Given the description of an element on the screen output the (x, y) to click on. 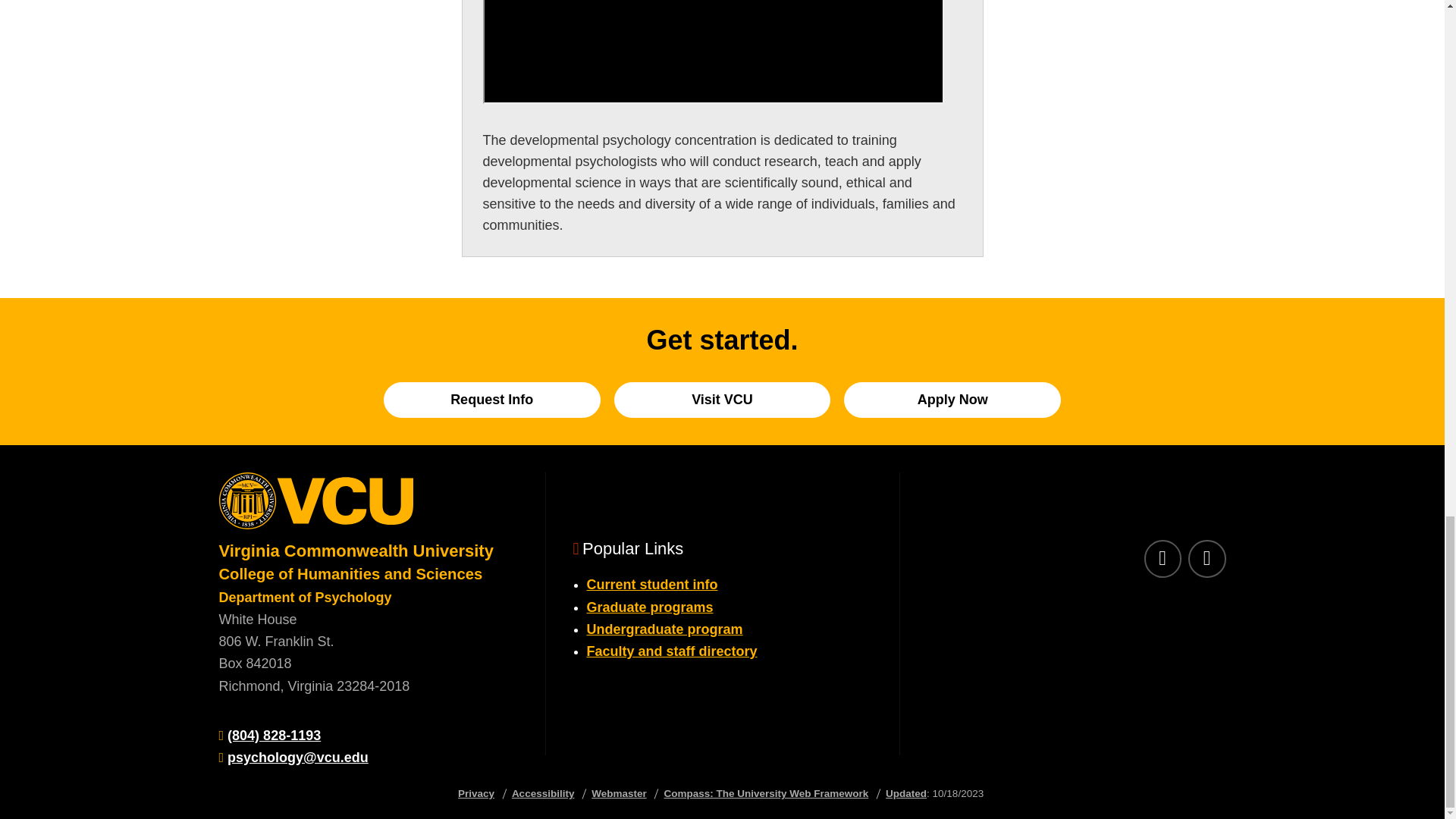
Kaltura Player (712, 52)
Virginia Commonwealth University (355, 550)
Accessibility at VCU (543, 793)
VCU privacy statement (476, 793)
Facebook (1161, 558)
Virginia Commonwealth University seal (367, 505)
Contact us by email (297, 757)
Contact us by telephone (273, 735)
Twitter (1206, 558)
Contact the VCU webmaster (618, 793)
